Given the description of an element on the screen output the (x, y) to click on. 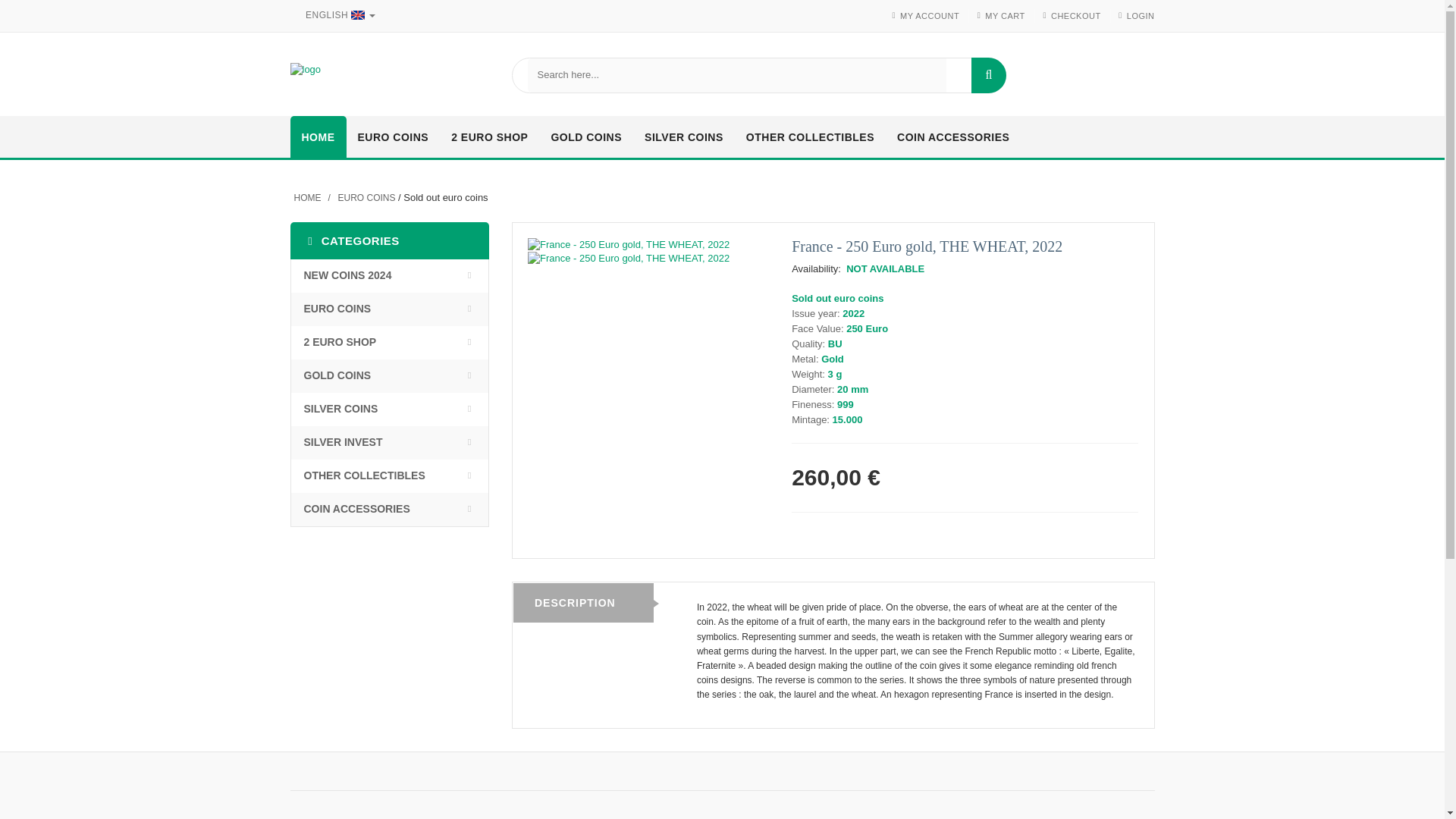
SILVER COINS (684, 137)
ENGLISH (337, 15)
MY ACCOUNT (929, 15)
CHECKOUT (1075, 15)
MY CART (1005, 15)
2 EURO SHOP (488, 137)
HOME (317, 137)
GOLD COINS (585, 137)
EURO COINS (392, 137)
LOGIN (1140, 15)
